Given the description of an element on the screen output the (x, y) to click on. 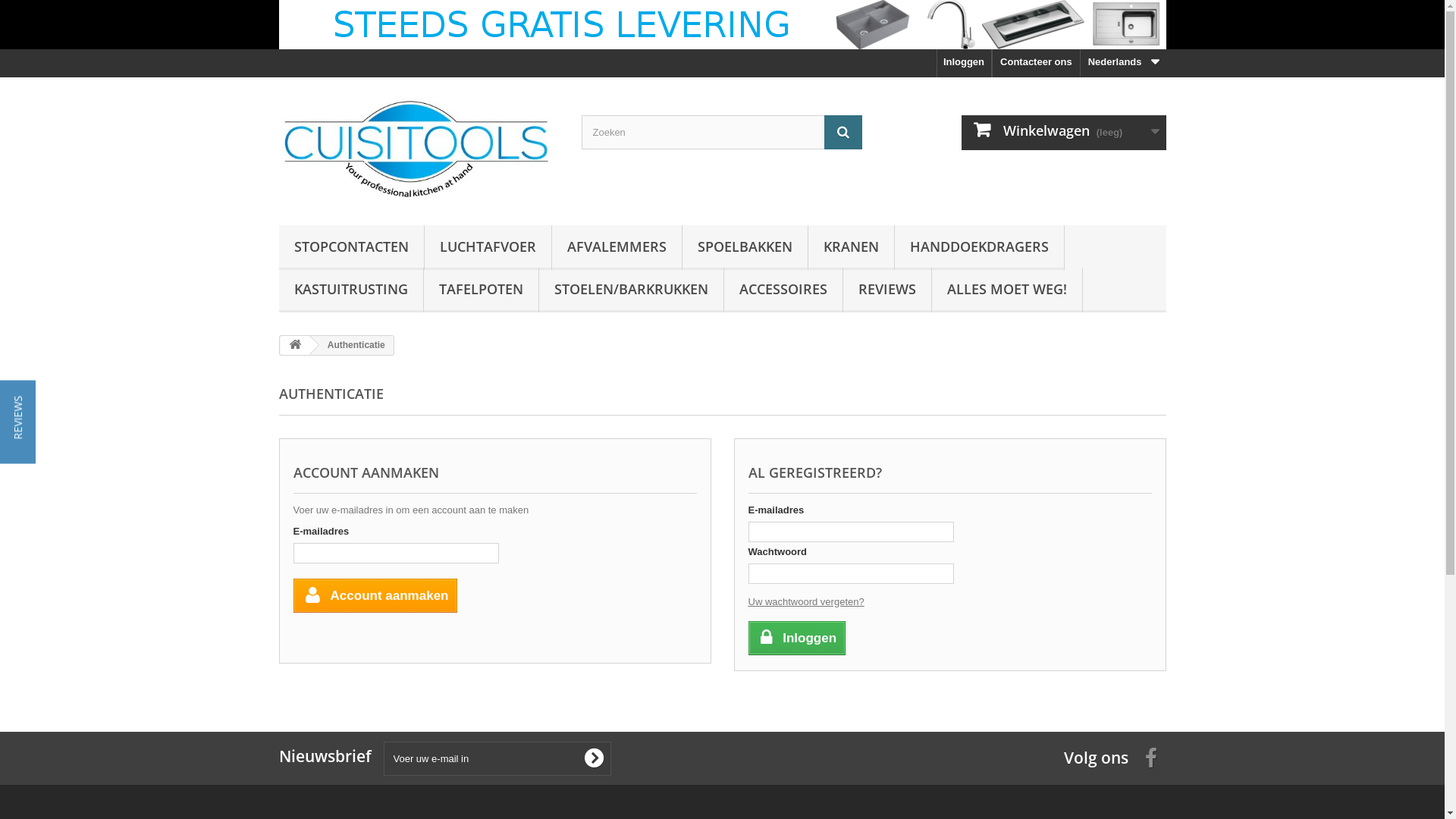
HANDDOEKDRAGERS Element type: text (978, 247)
Cuisitools Element type: hover (419, 147)
AFVALEMMERS Element type: text (616, 247)
Uw wachtwoord vergeten? Element type: text (805, 601)
Altijd gratis verzending! Element type: hover (722, 24)
ALLES MOET WEG! Element type: text (1006, 289)
Terug naar Home Element type: hover (294, 344)
REVIEWS Element type: text (887, 289)
Inloggen Element type: text (964, 63)
STOELEN/BARKRUKKEN Element type: text (630, 289)
Winkelwagen (leeg) Element type: text (1063, 132)
KRANEN Element type: text (851, 247)
Account aanmaken Element type: text (374, 595)
TAFELPOTEN Element type: text (480, 289)
Contacteer ons Element type: text (1035, 63)
ACCESSOIRES Element type: text (782, 289)
STOPCONTACTEN Element type: text (351, 247)
SPOELBAKKEN Element type: text (744, 247)
KASTUITRUSTING Element type: text (351, 289)
LUCHTAFVOER Element type: text (487, 247)
Inloggen Element type: text (796, 638)
